Given the description of an element on the screen output the (x, y) to click on. 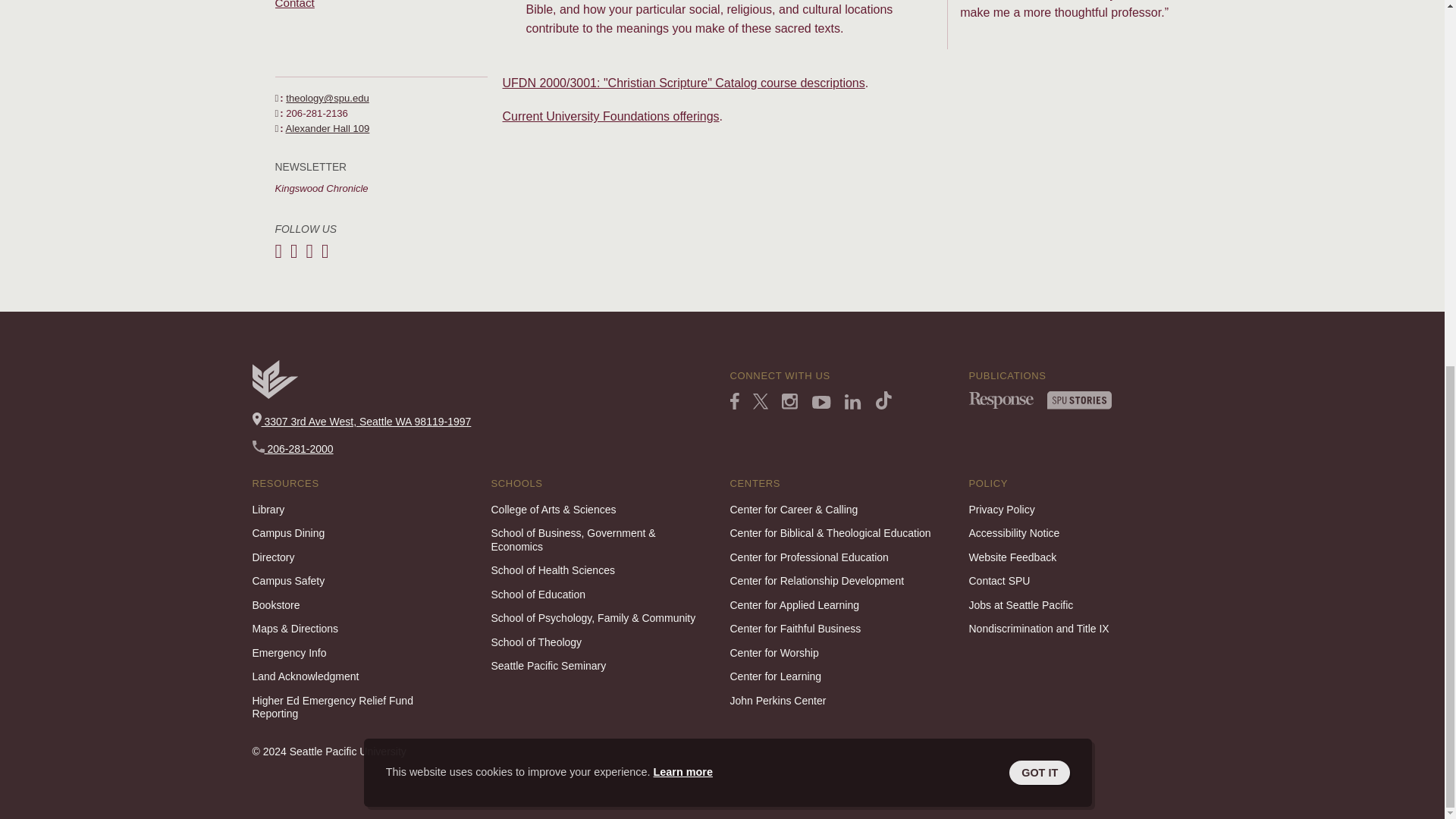
Learn more (683, 111)
GOT IT (1039, 112)
